Given the description of an element on the screen output the (x, y) to click on. 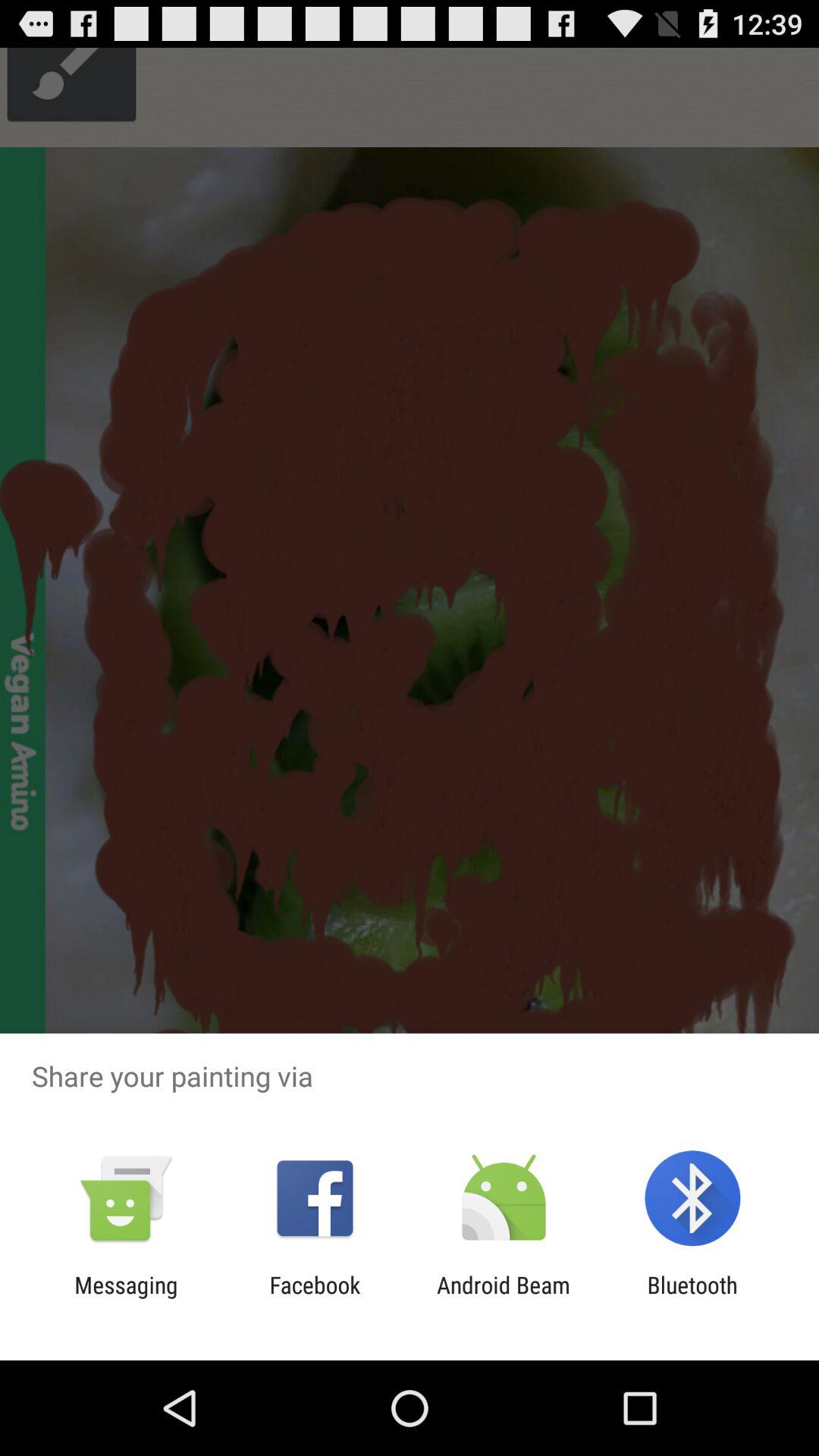
scroll to facebook (314, 1298)
